Given the description of an element on the screen output the (x, y) to click on. 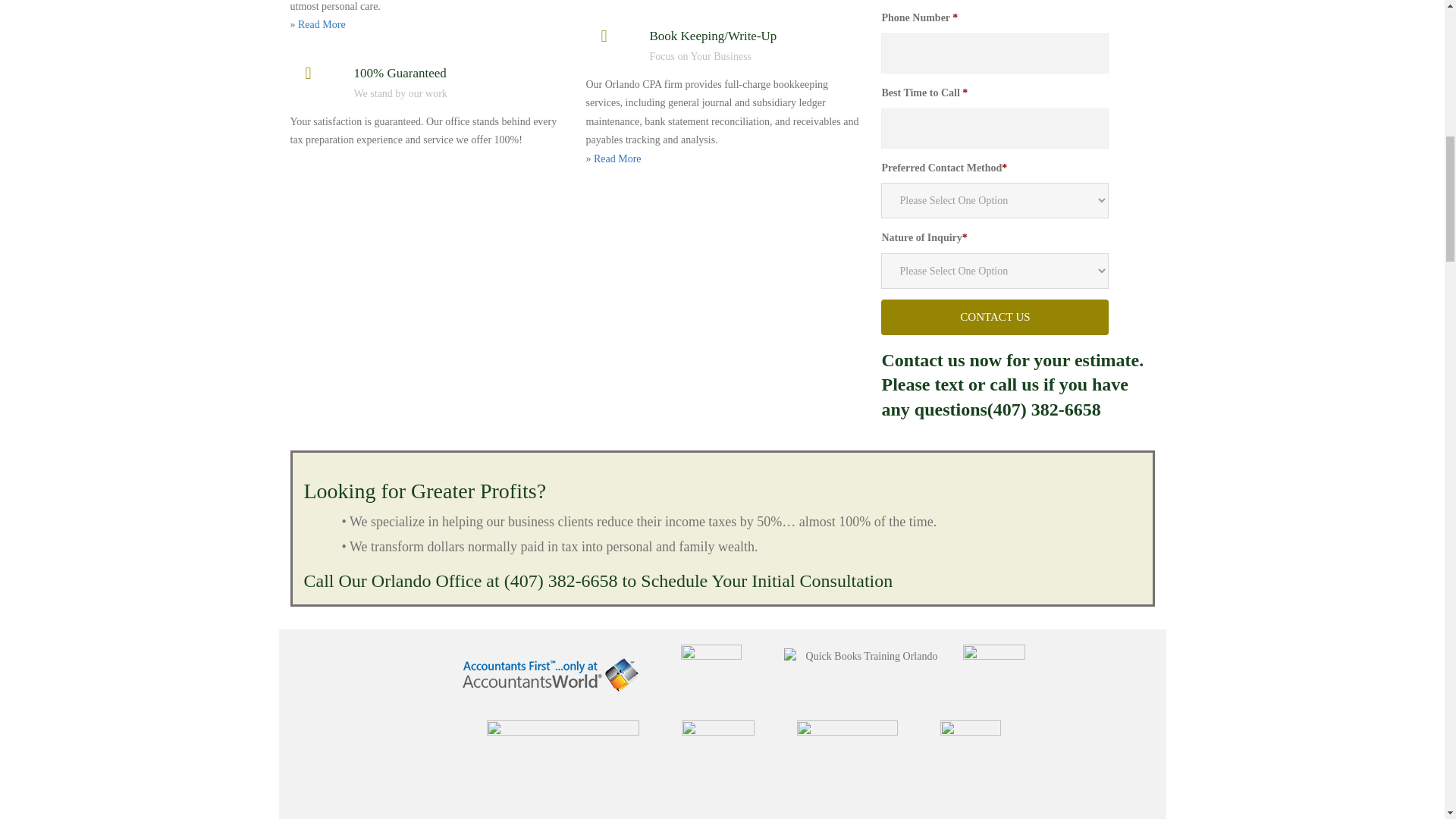
Contact Us (994, 316)
